Given the description of an element on the screen output the (x, y) to click on. 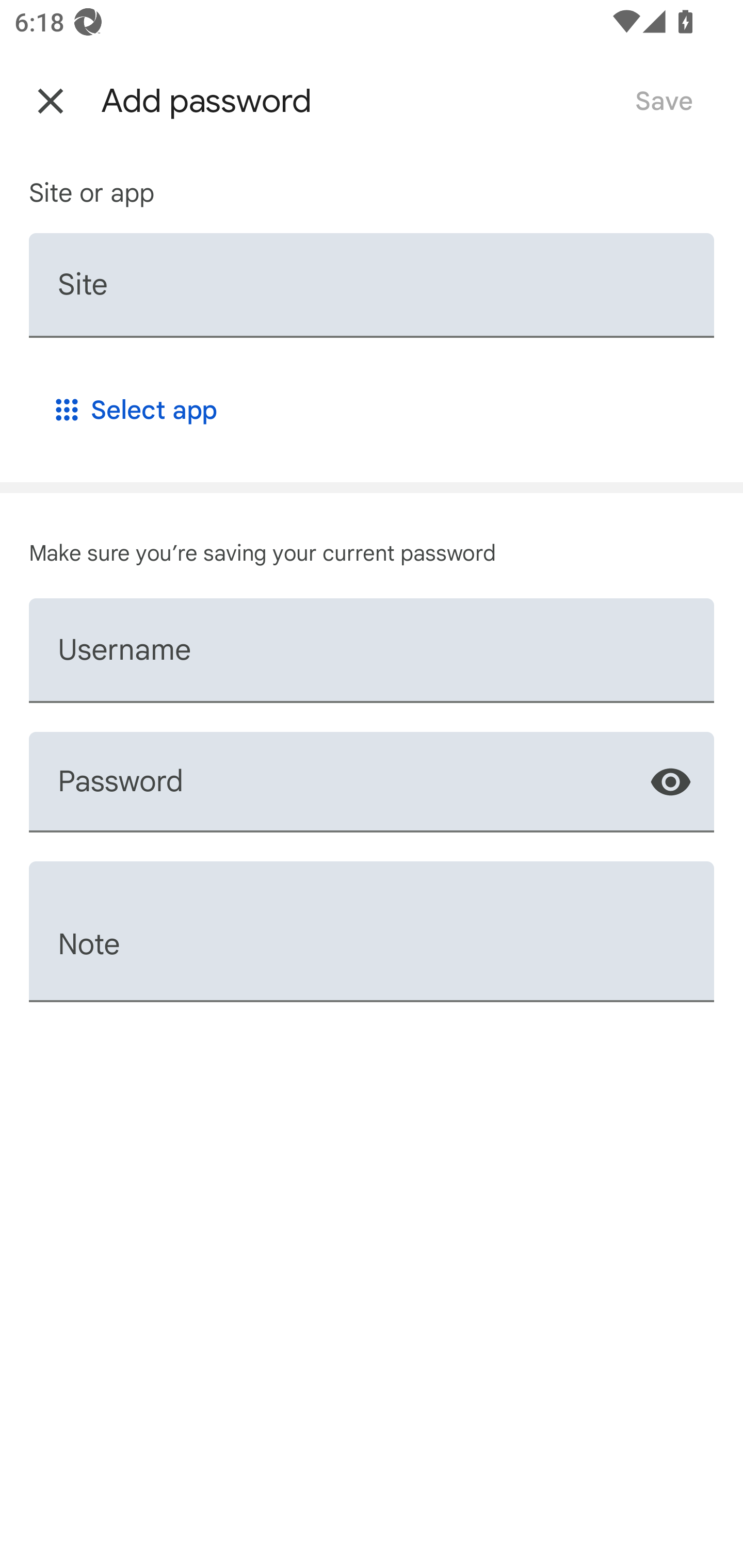
Navigate up (50, 101)
Save (663, 101)
Site (371, 285)
Select app (133, 409)
Username (371, 650)
Password (371, 782)
Show password (670, 781)
Note (371, 930)
